Given the description of an element on the screen output the (x, y) to click on. 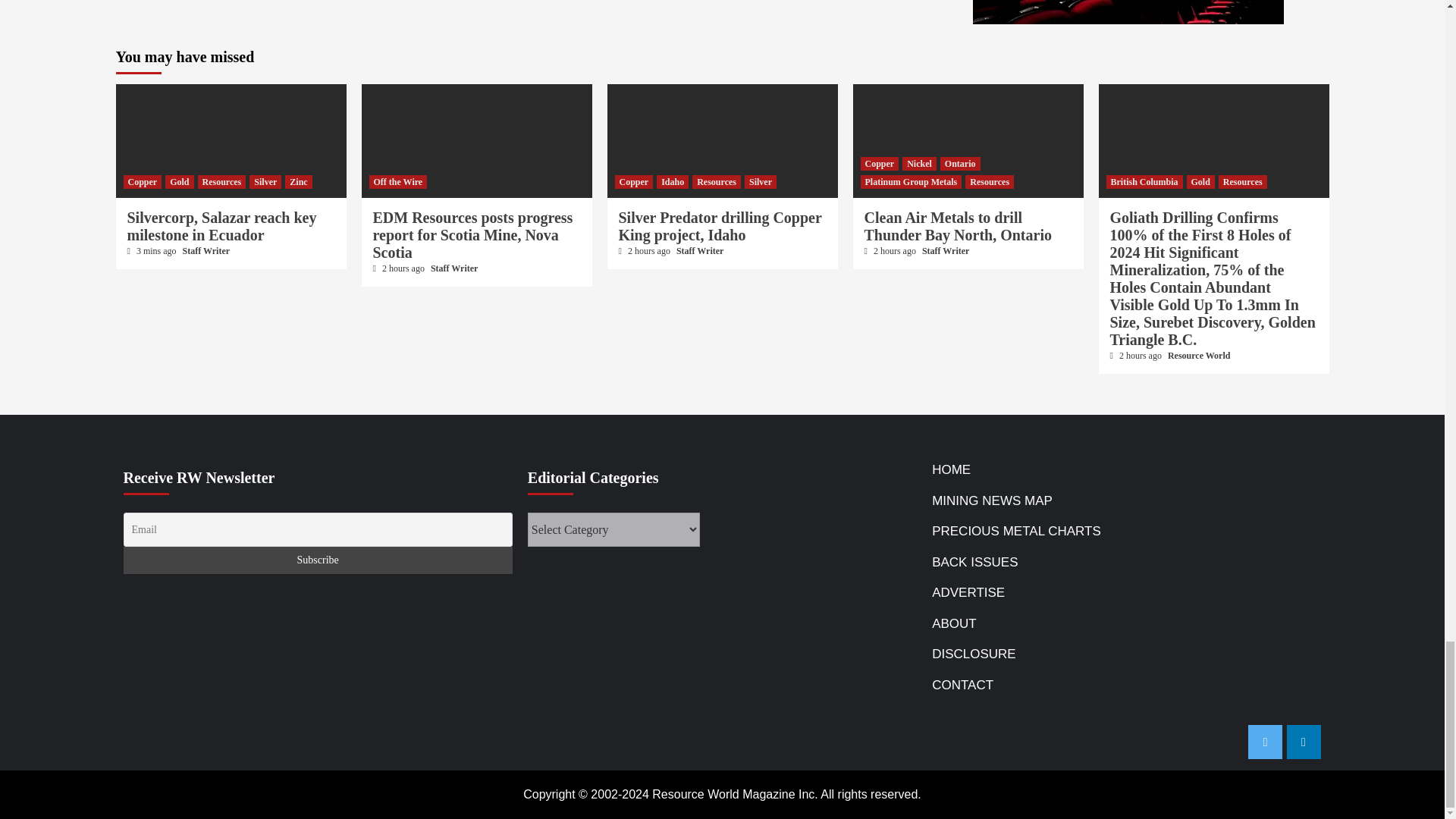
Subscribe (317, 560)
